Given the description of an element on the screen output the (x, y) to click on. 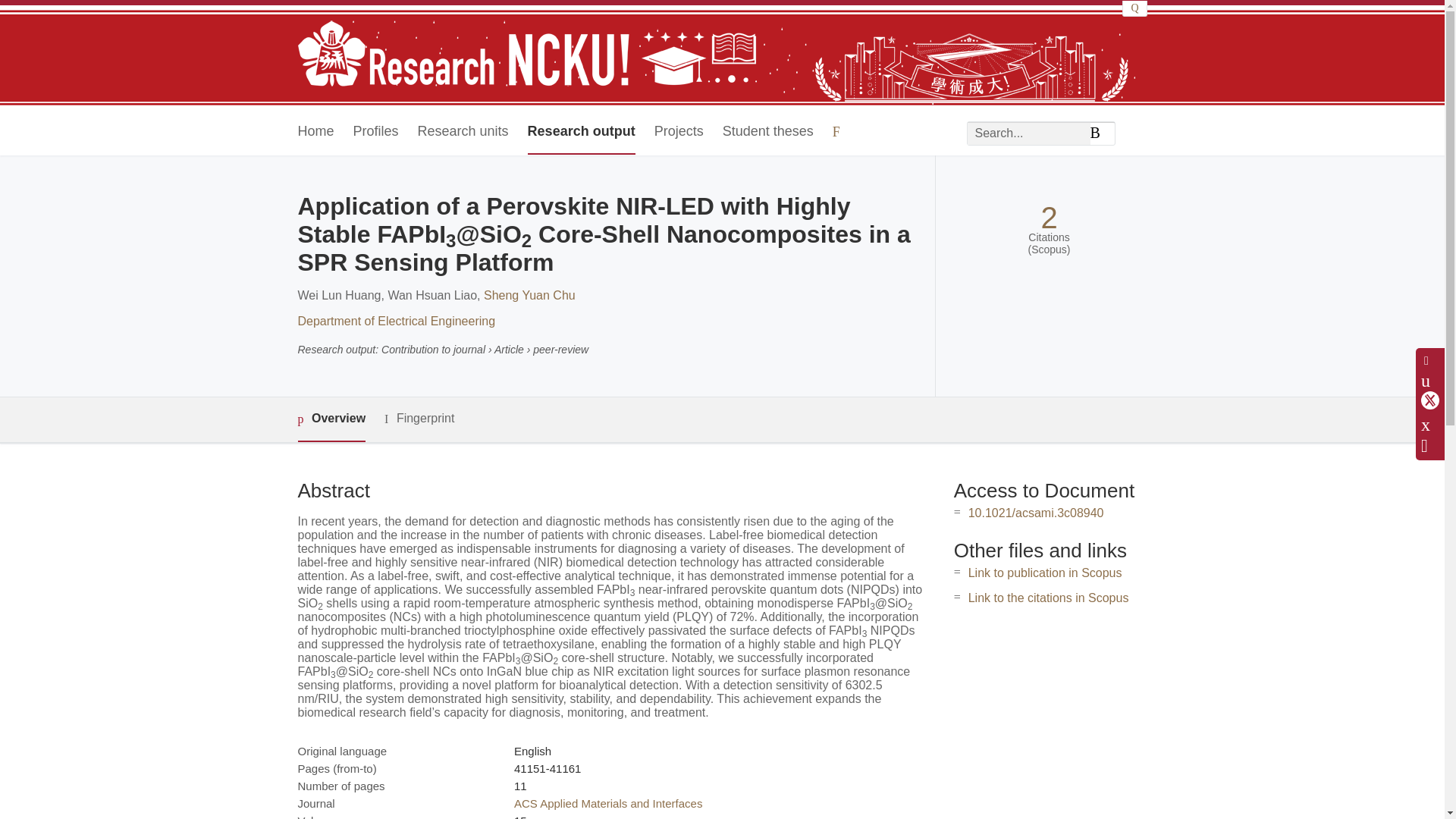
Research units (462, 131)
Profiles (375, 131)
Fingerprint (419, 418)
Research output (580, 131)
Sheng Yuan Chu (529, 295)
National Cheng Kung University Home (526, 54)
Student theses (767, 131)
ACS Applied Materials and Interfaces (607, 802)
Overview (331, 419)
2 (1049, 217)
Link to the citations in Scopus (1048, 597)
Department of Electrical Engineering (396, 320)
Home (315, 131)
Link to publication in Scopus (1045, 572)
